Given the description of an element on the screen output the (x, y) to click on. 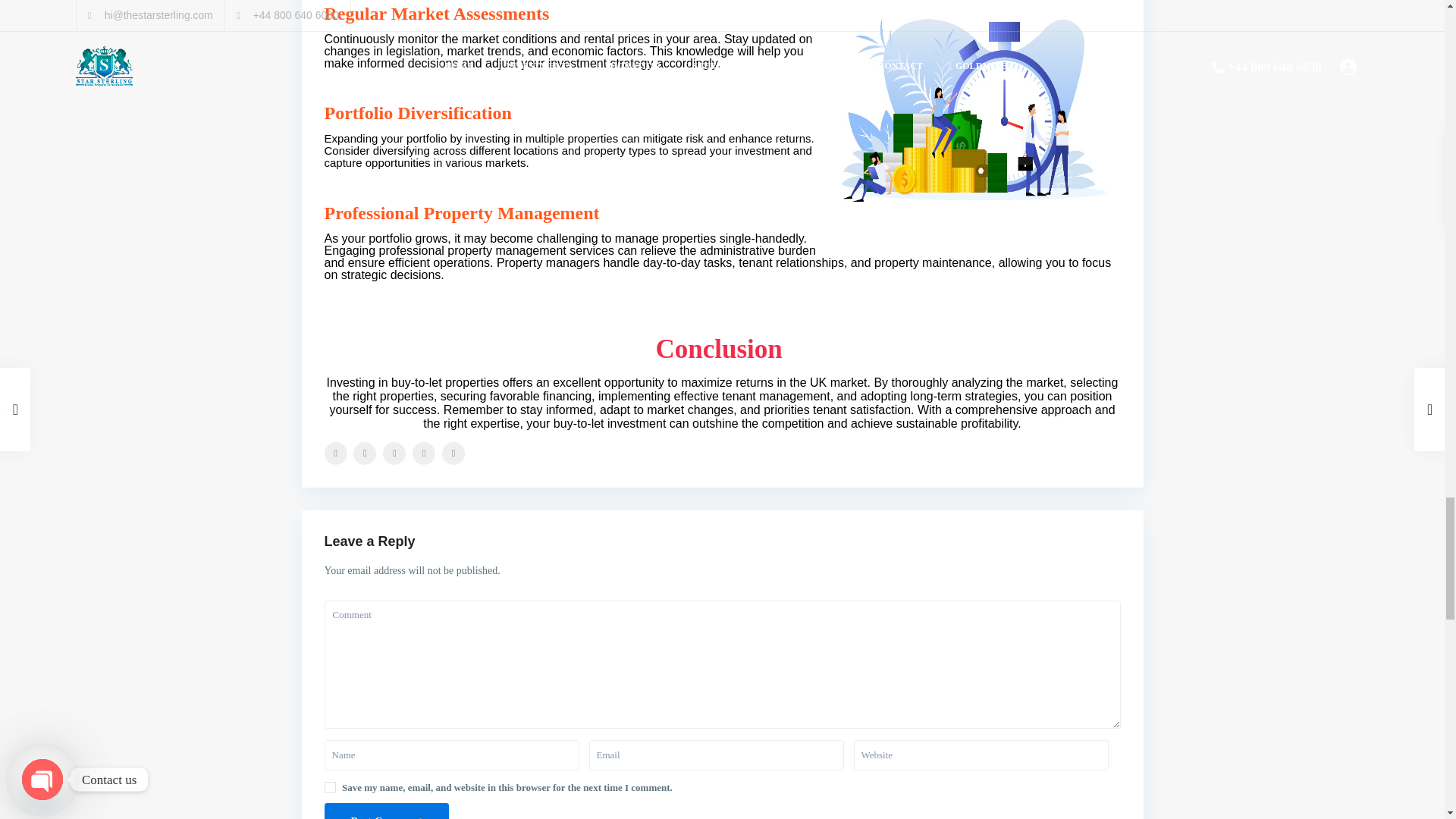
yes (330, 787)
Post Comment (386, 811)
